Given the description of an element on the screen output the (x, y) to click on. 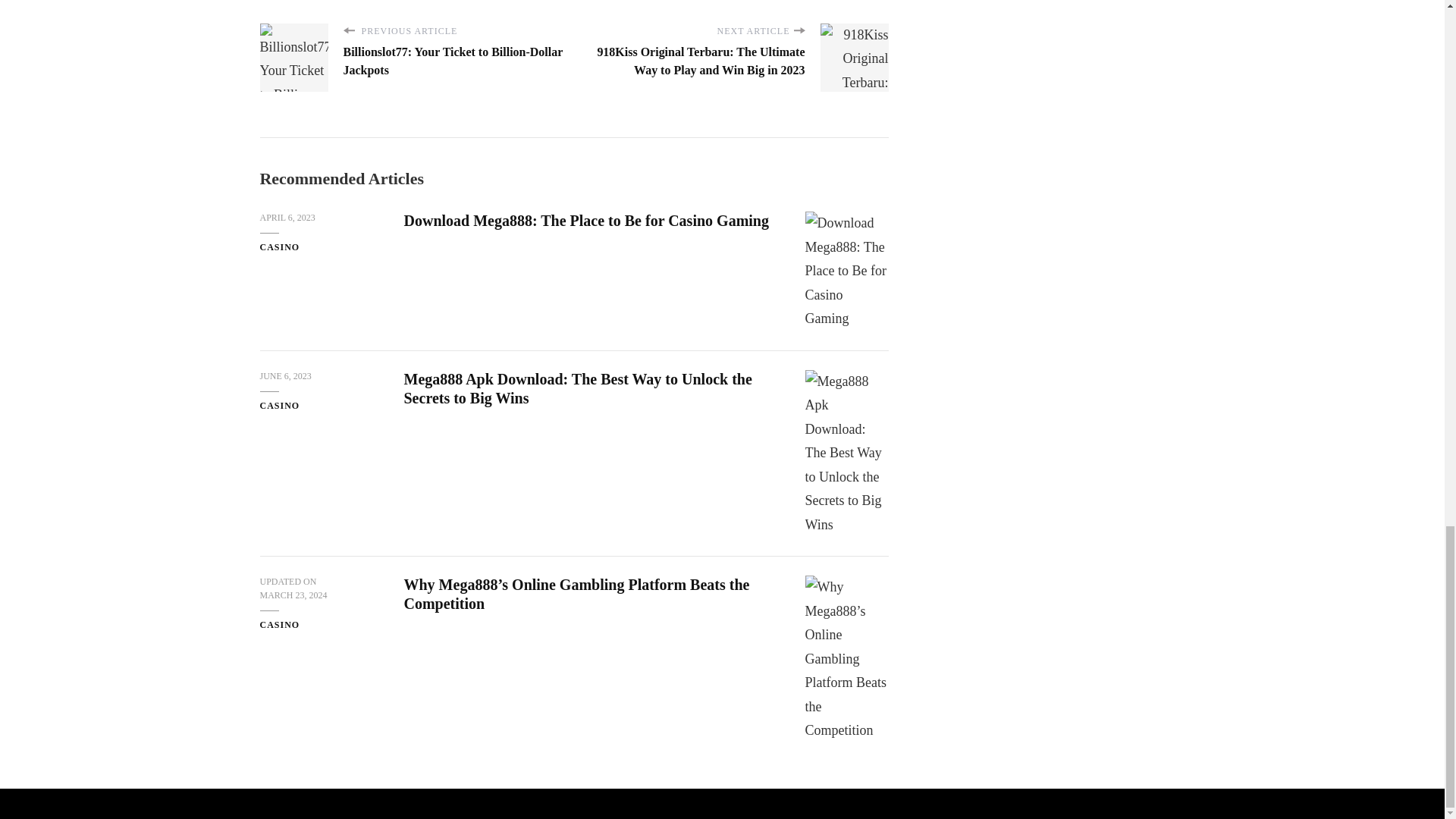
Download Mega888: The Place to Be for Casino Gaming (585, 220)
CASINO (279, 247)
CASINO (279, 625)
CASINO (279, 406)
MARCH 23, 2024 (292, 595)
APRIL 6, 2023 (286, 218)
JUNE 6, 2023 (285, 377)
